Given the description of an element on the screen output the (x, y) to click on. 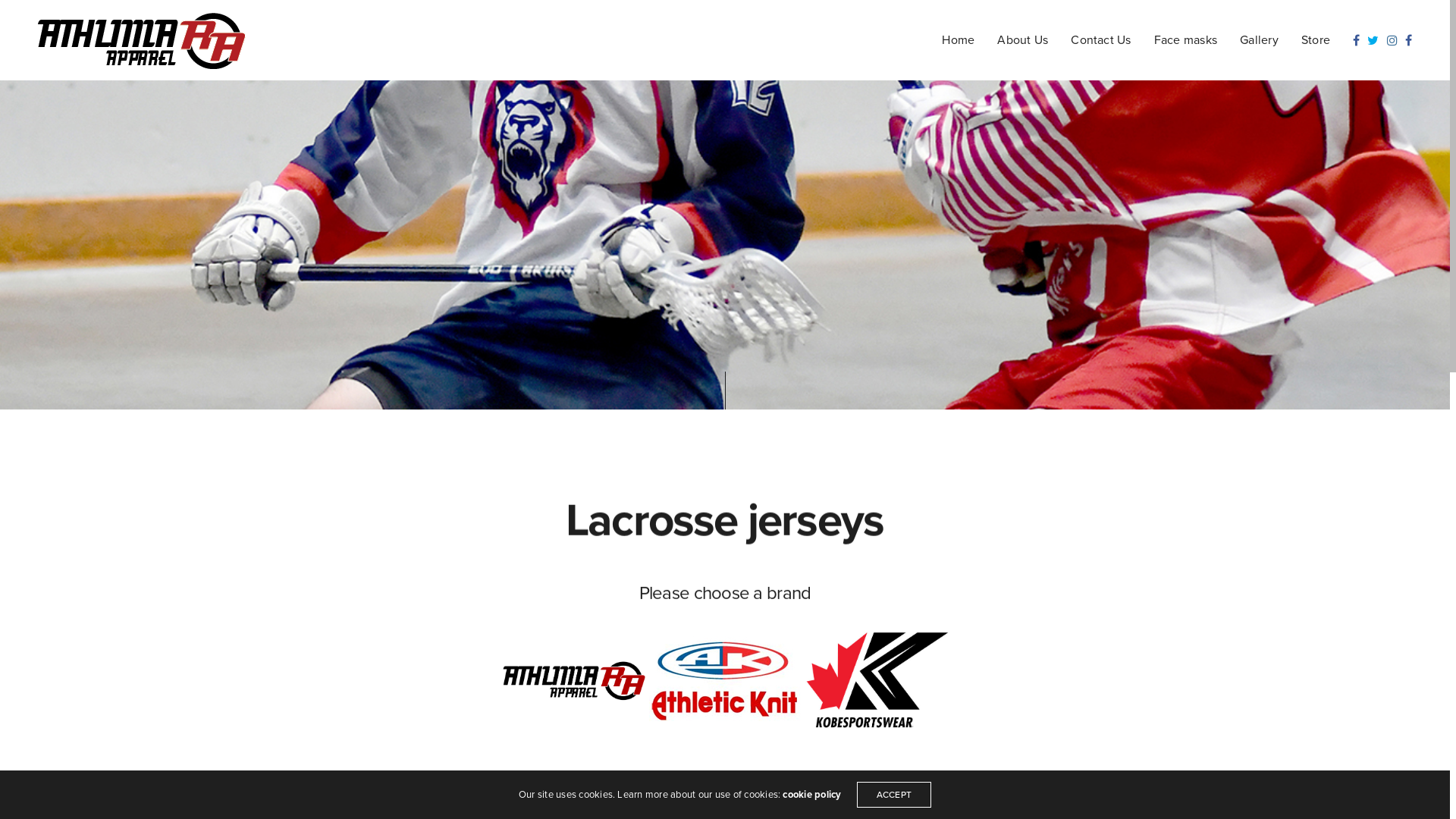
Search Element type: text (46, 16)
Roster form Element type: text (288, 773)
Athletic Knit Lacrosse jerseys Calgary, AB Element type: hover (724, 679)
kobe jerseys Calgary, AB Element type: hover (876, 679)
ACCEPT Element type: text (893, 794)
cookie policy Element type: text (811, 794)
hello@athlimaapparel.ca Element type: text (205, 773)
Contact Us Element type: text (1100, 39)
About Us Element type: text (1022, 39)
Gallery Element type: text (1258, 39)
SEO Company To-The-TOP! Element type: text (439, 773)
Store Element type: text (1315, 39)
Face masks Element type: text (1185, 39)
Home Element type: text (957, 39)
